Given the description of an element on the screen output the (x, y) to click on. 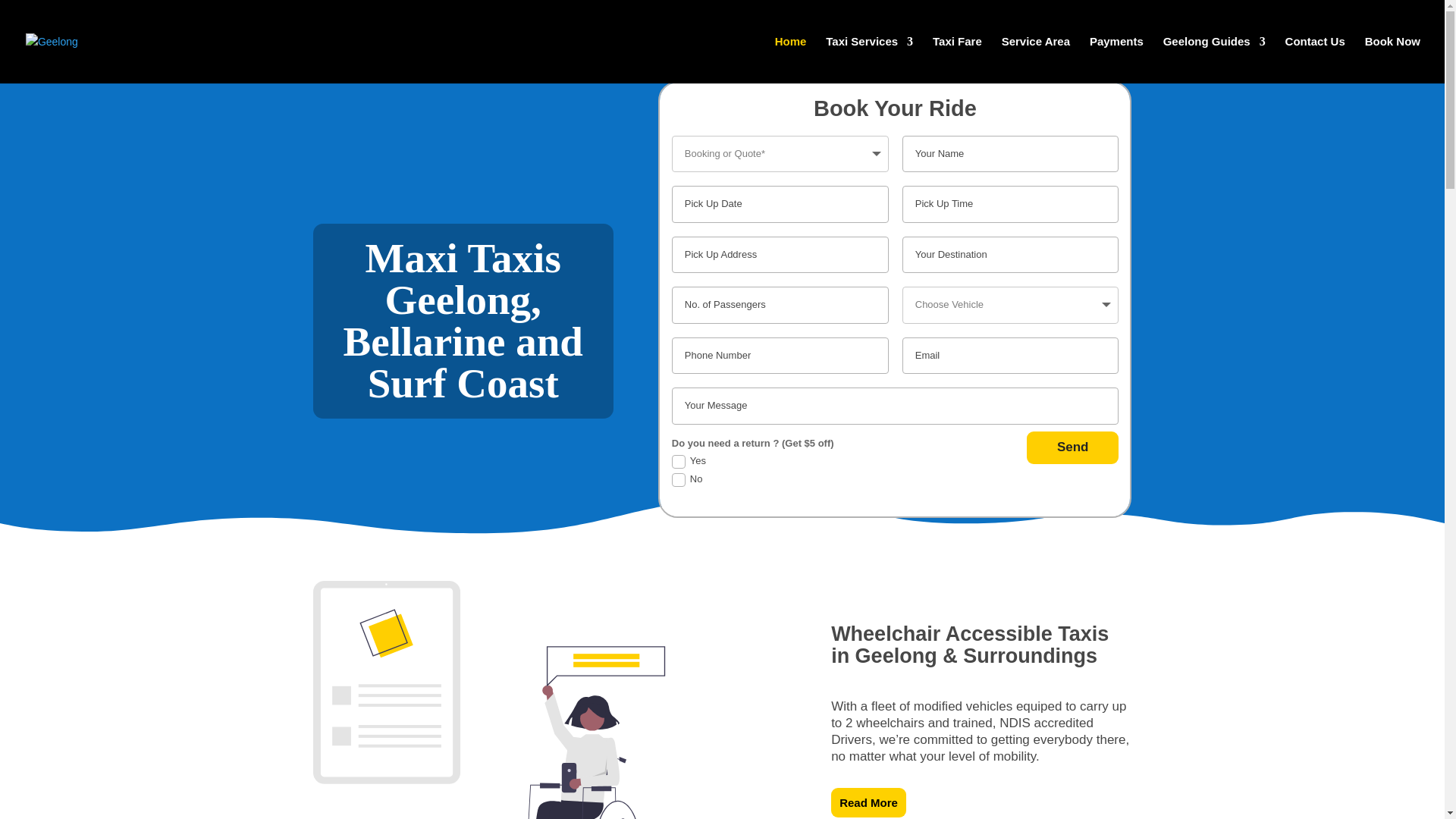
Service Area (1035, 59)
Book Now (1393, 59)
Send (1072, 447)
Wheelchair Taxi - Yarra Cabs Geelong (489, 699)
Only numbers allowed.Minimum length: 1 characters.  (779, 304)
Read More (868, 802)
Geelong Guides (1214, 59)
Payments (1115, 59)
Taxi Services (868, 59)
Only letters and numbers allowed. (1010, 153)
